Given the description of an element on the screen output the (x, y) to click on. 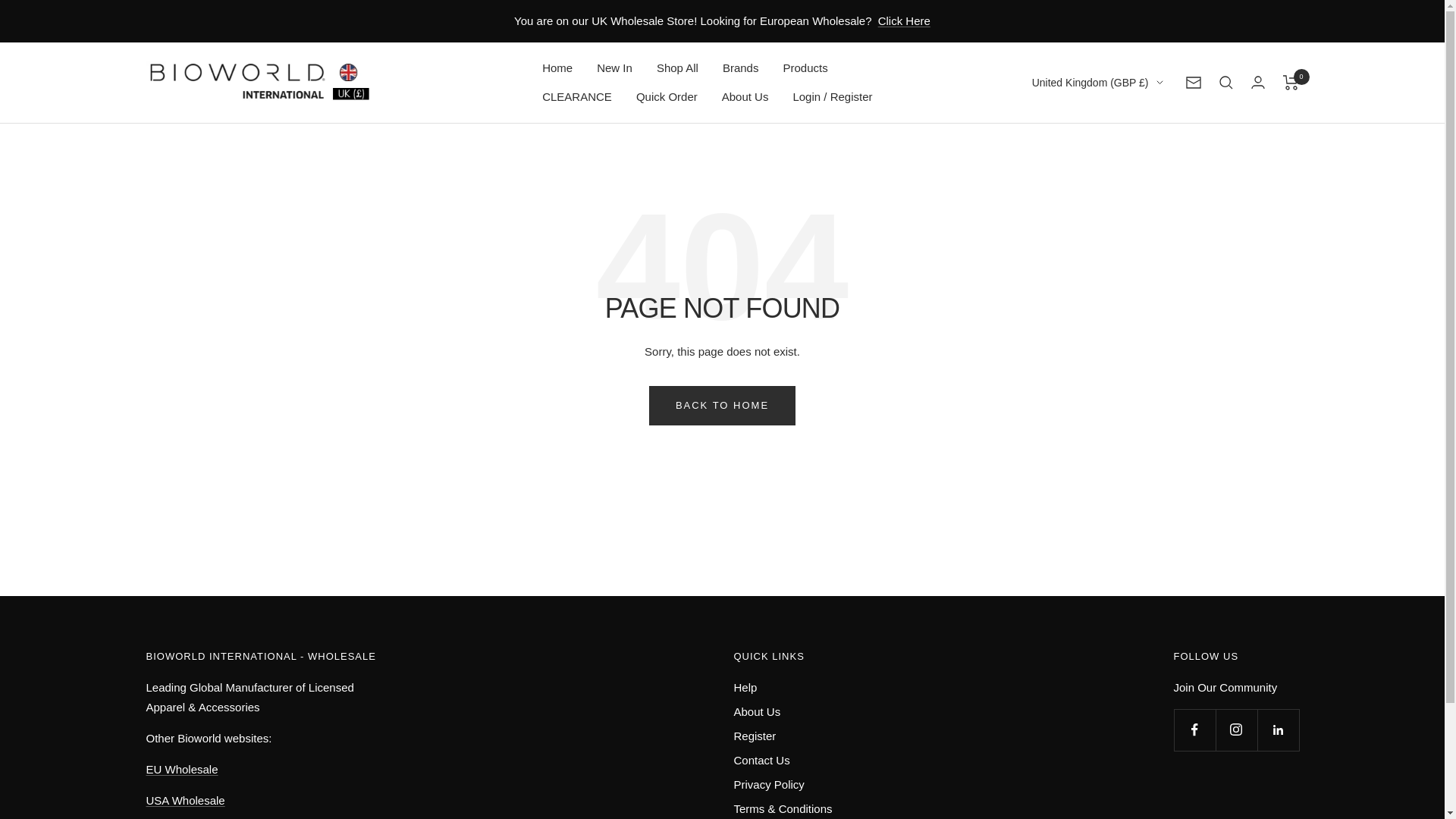
GB (1087, 159)
JE (1087, 134)
0 (1290, 82)
Newsletter (1193, 82)
Products (805, 67)
Click Here (903, 21)
Quick Order (666, 96)
CLEARANCE (576, 96)
New In (613, 67)
About Us (745, 96)
